Given the description of an element on the screen output the (x, y) to click on. 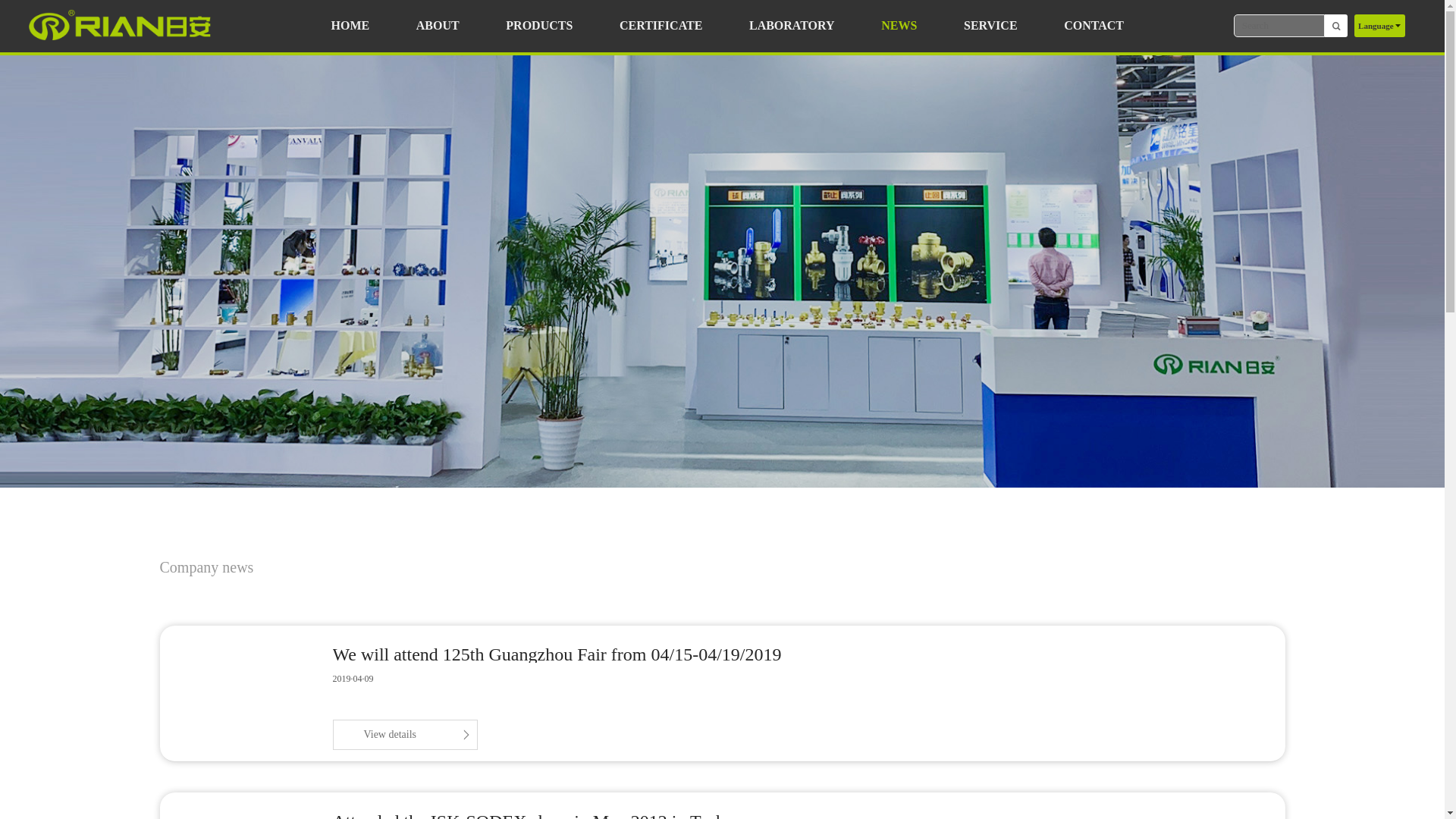
Click to see details (404, 734)
CONTACT (1094, 26)
LABORATORY (791, 26)
ABOUT (438, 26)
CERTIFICATE (660, 26)
RIAN VALVE (120, 26)
SERVICE (990, 26)
NEWS (898, 26)
